Given the description of an element on the screen output the (x, y) to click on. 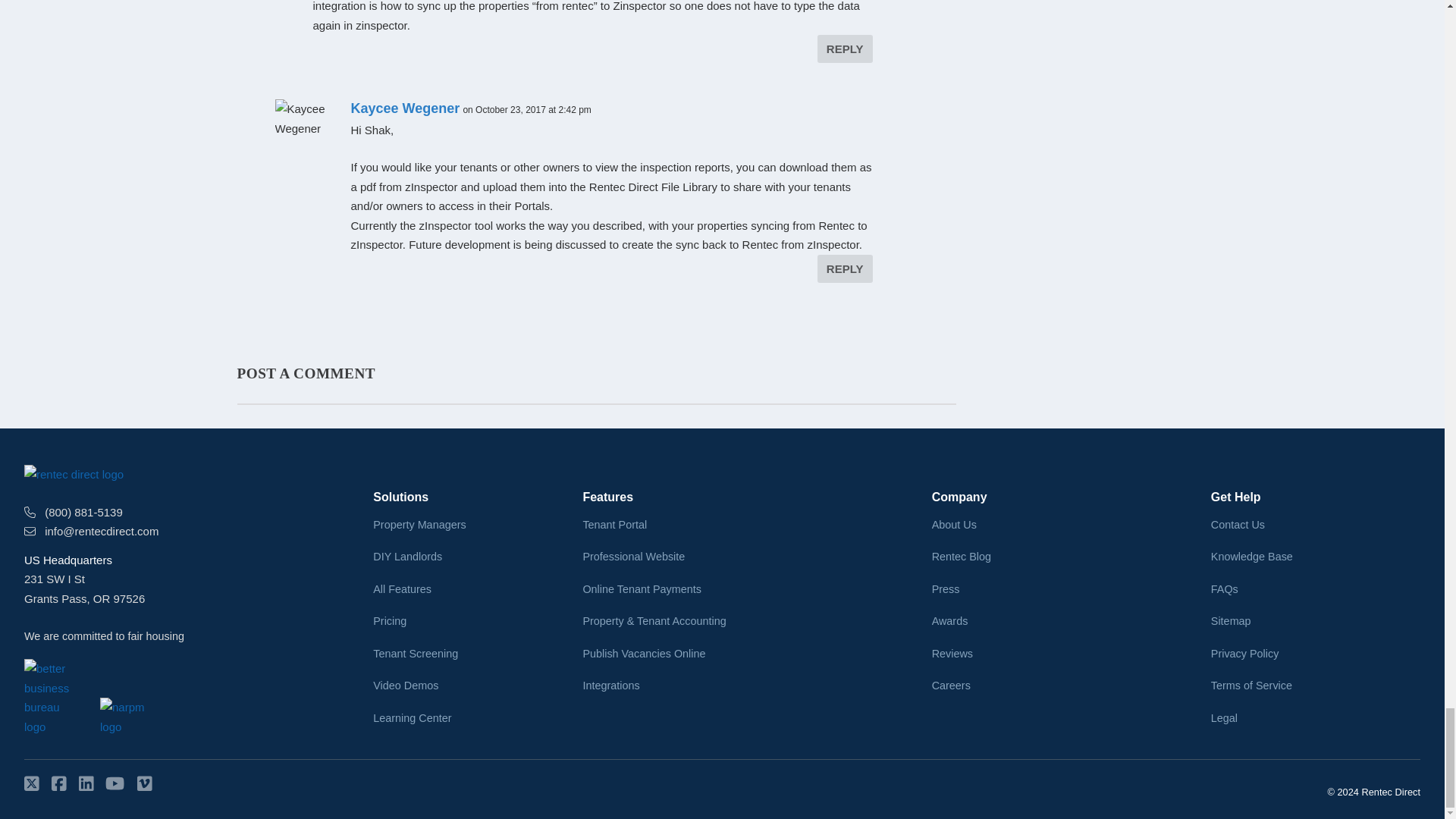
phone number (29, 511)
email address (29, 531)
